Given the description of an element on the screen output the (x, y) to click on. 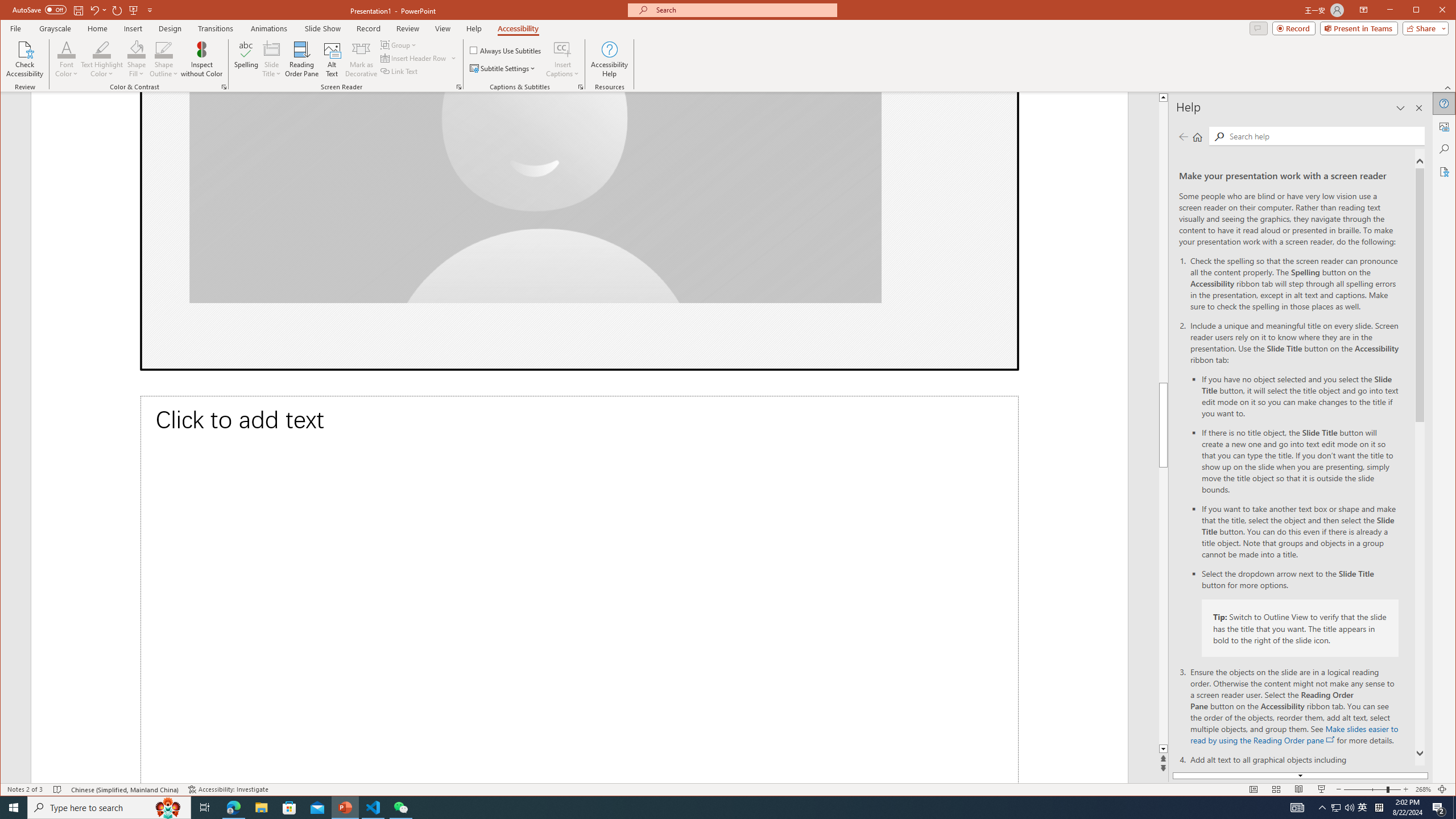
Alt Text (1444, 125)
Subtitle Settings (502, 68)
Previous page (1183, 136)
Link Text (399, 70)
Accessibility Checker Accessibility: Investigate (228, 789)
Shape Outline Blue, Accent 1 (163, 48)
AutomationID: 4105 (1297, 807)
Text Highlight Color (102, 48)
Microsoft Edge - 1 running window (233, 807)
Shape Fill (136, 59)
